Given the description of an element on the screen output the (x, y) to click on. 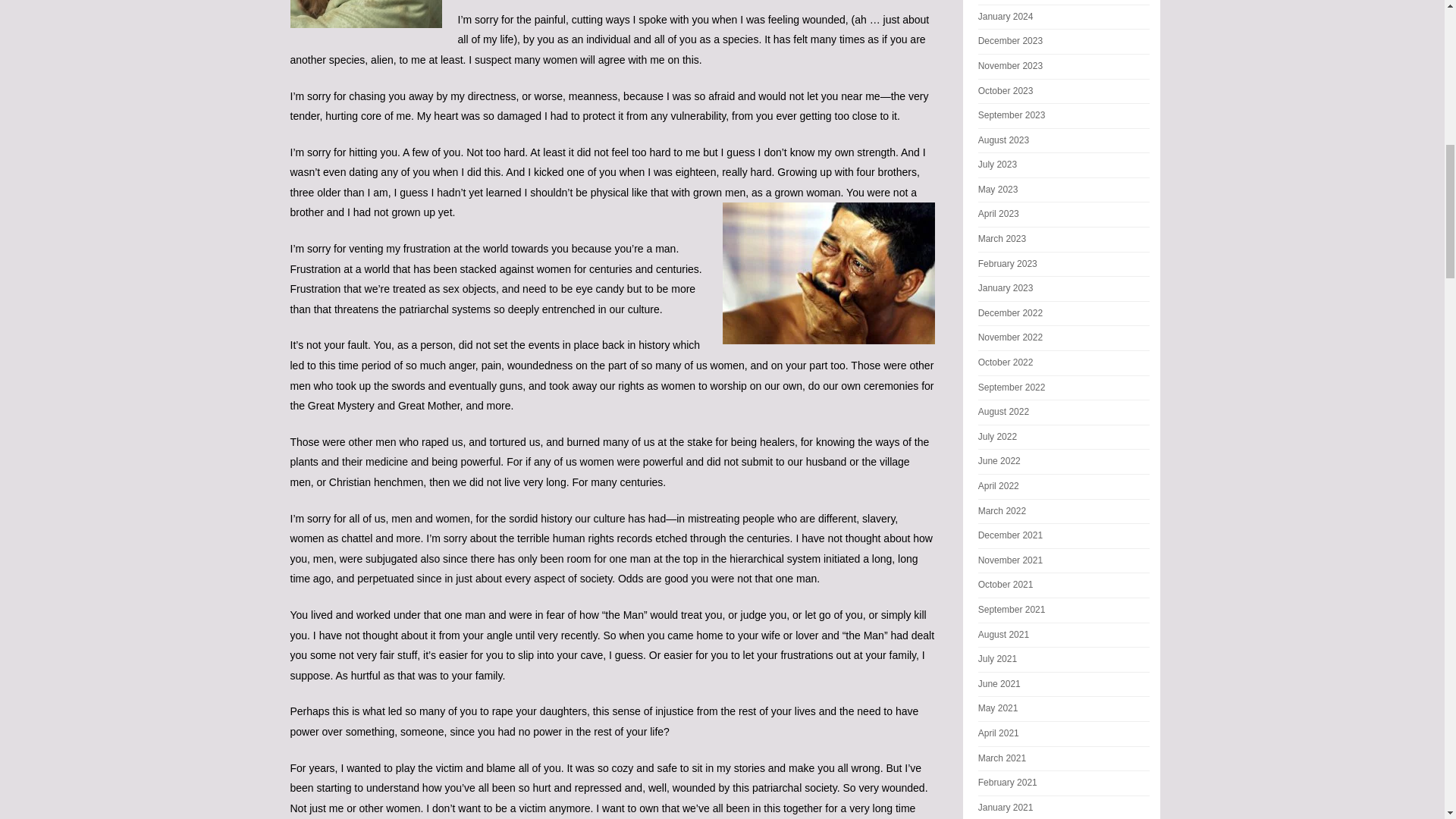
December 2023 (1010, 40)
May 2023 (997, 189)
October 2023 (1005, 90)
August 2023 (1003, 140)
July 2023 (997, 163)
November 2023 (1010, 65)
September 2023 (1011, 114)
January 2024 (1005, 16)
